Given the description of an element on the screen output the (x, y) to click on. 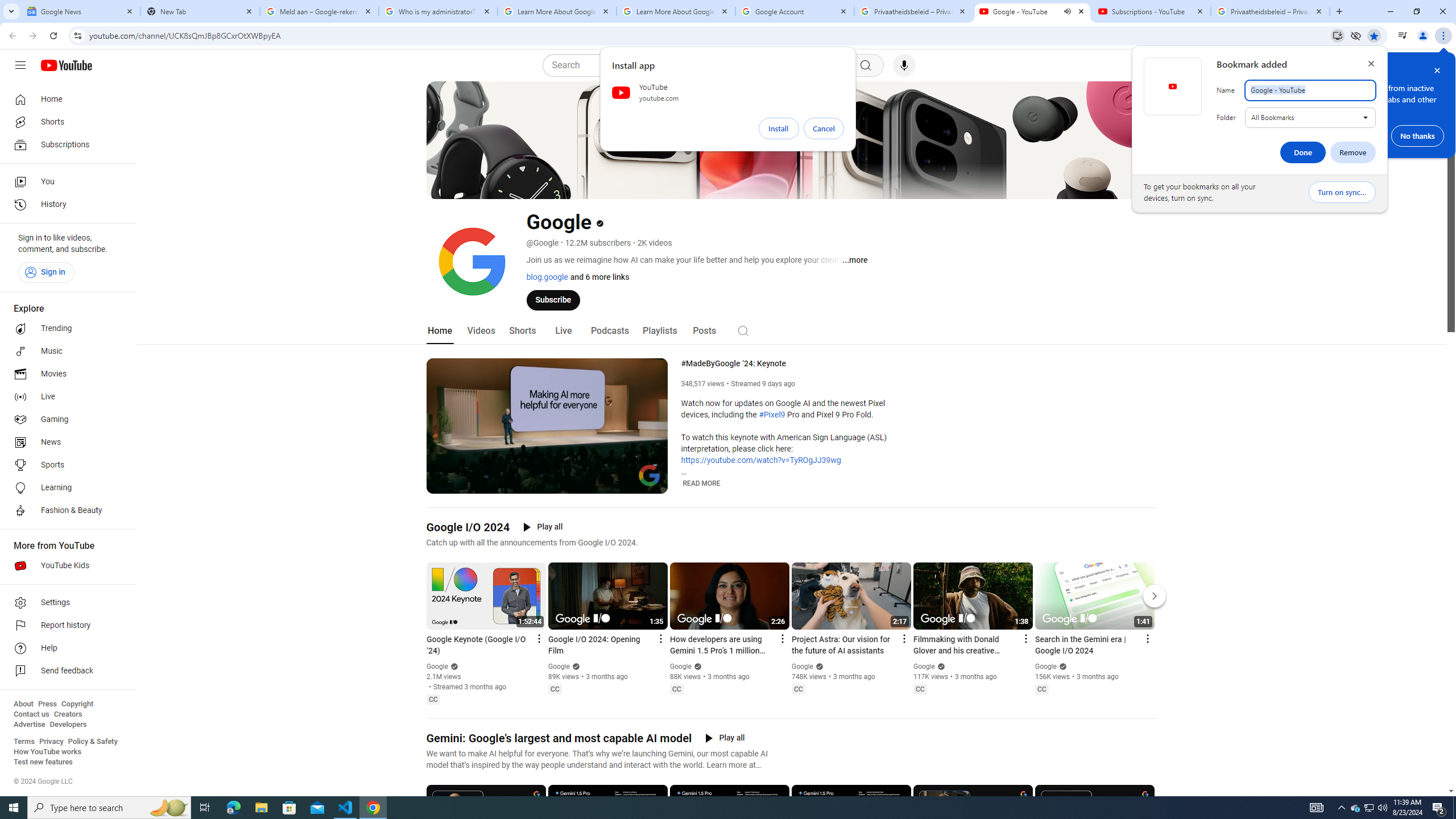
Channel watermark (649, 475)
Google I/O 2024 (467, 526)
Subscriptions (64, 144)
File Explorer (261, 807)
Install YouTube (1336, 35)
Advertise (29, 724)
Guide (20, 65)
Who is my administrator? - Google Account Help (438, 11)
Pause (k) (443, 483)
Visual Studio Code - 1 running window (345, 807)
